Given the description of an element on the screen output the (x, y) to click on. 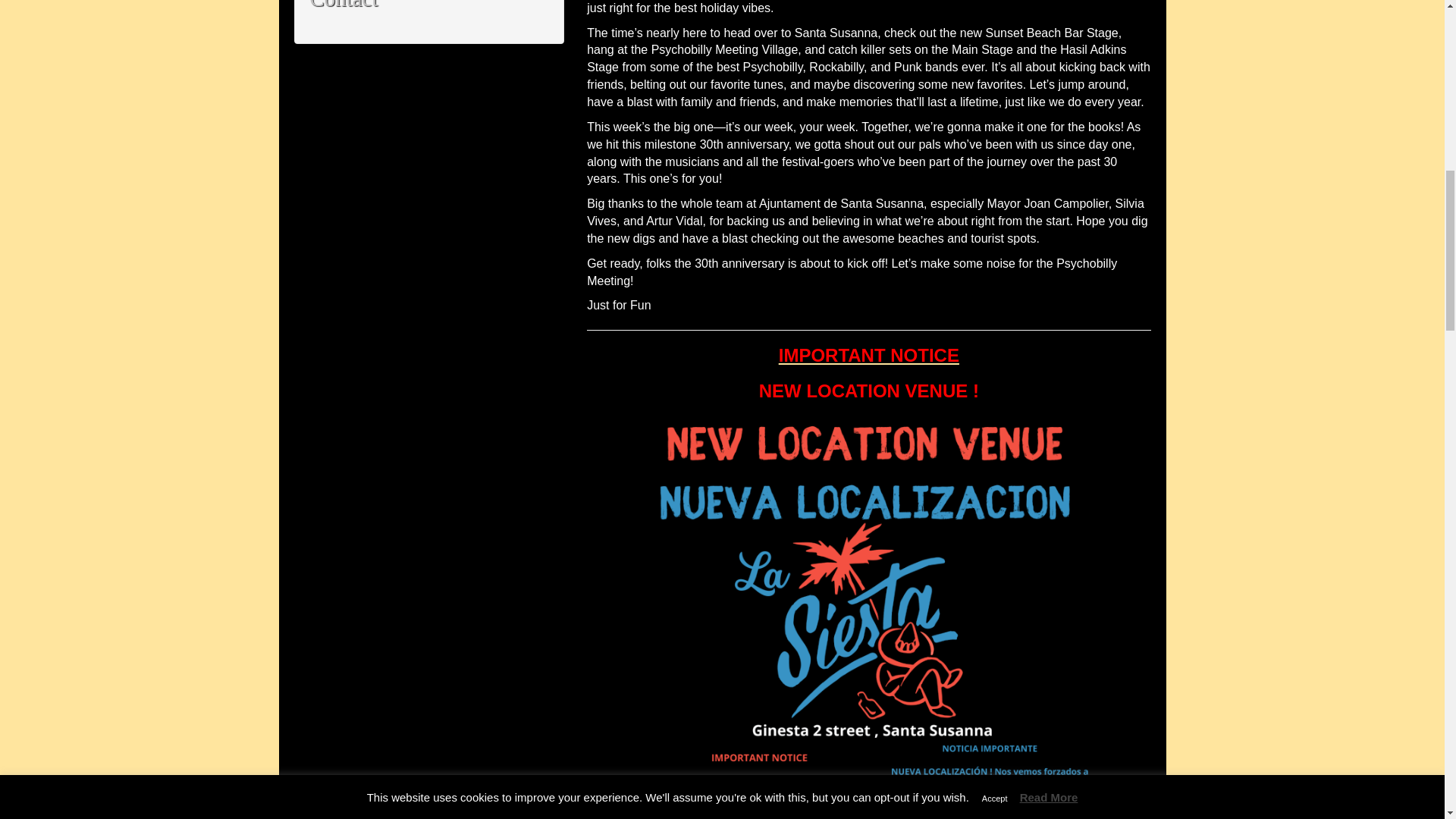
IMPORTANT NOTICE (868, 354)
